Given the description of an element on the screen output the (x, y) to click on. 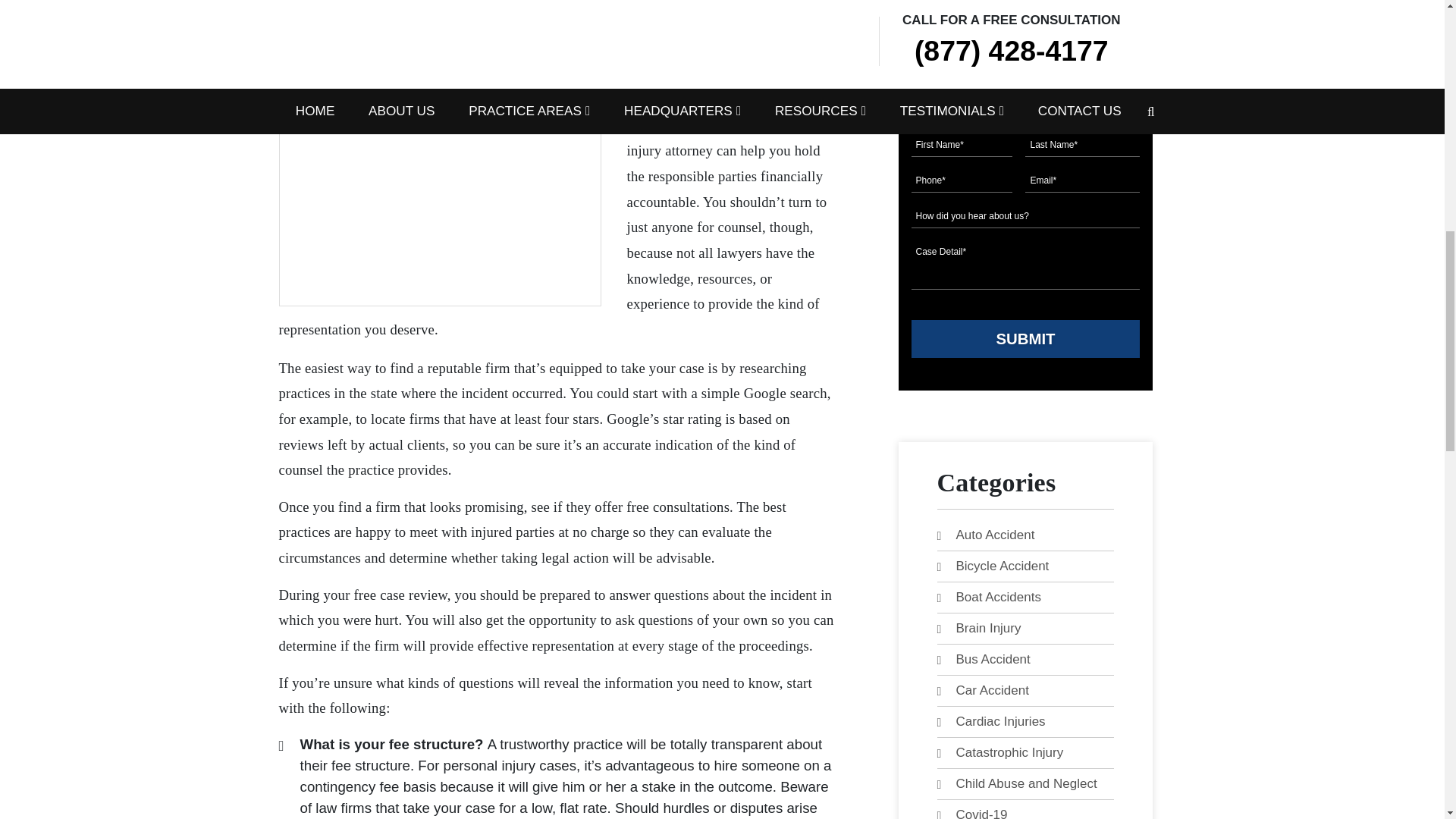
Submit (1025, 338)
